Given the description of an element on the screen output the (x, y) to click on. 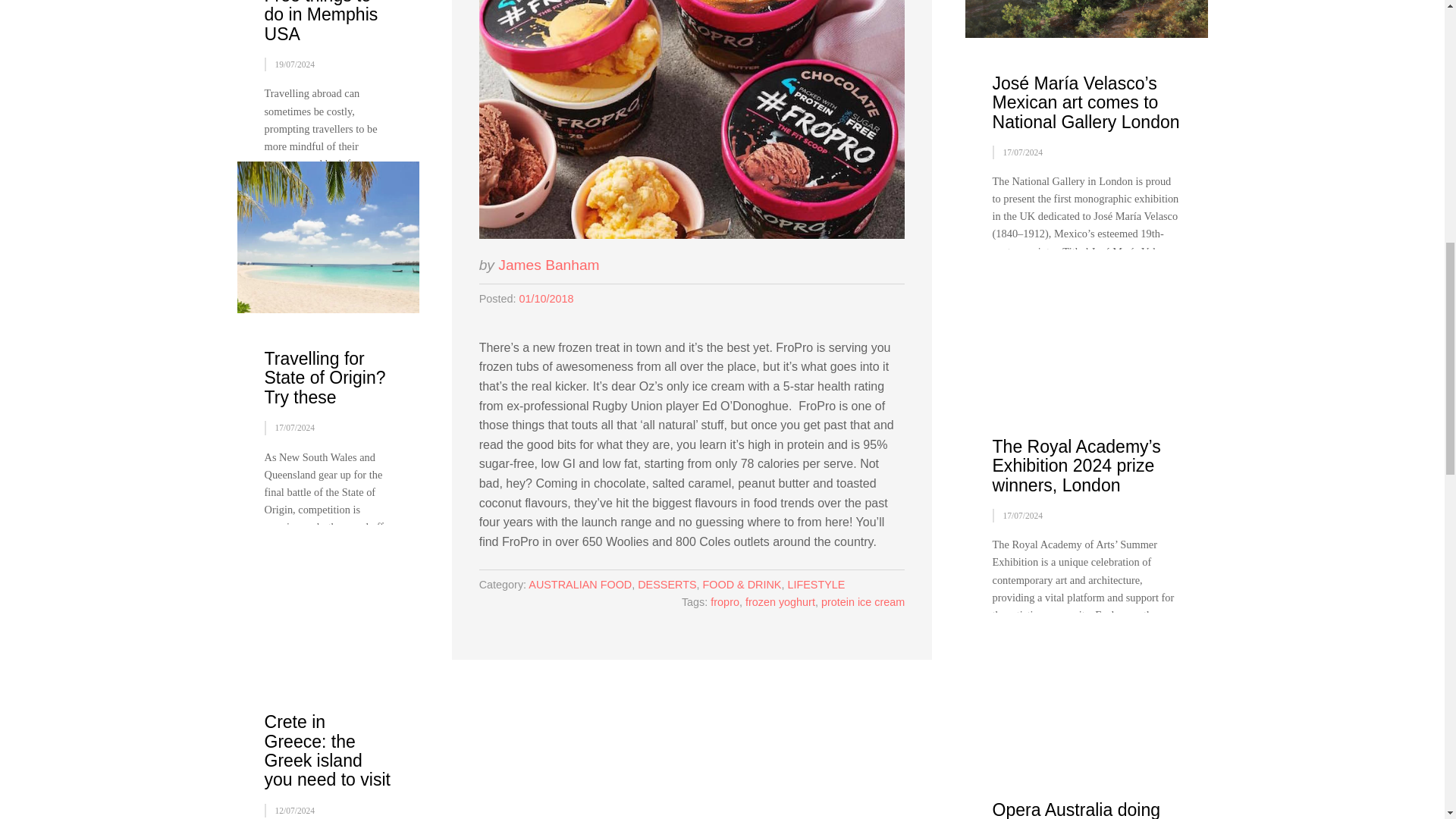
Crete in Greece: the Greek island you need to visit (326, 750)
DESSERTS (666, 584)
Travelling for State of Origin? Try these (324, 377)
AUSTRALIAN FOOD (579, 584)
frozen yoghurt (780, 602)
Posts by James Banham (547, 264)
protein ice cream (862, 602)
fropro (724, 602)
James Banham (547, 264)
Free things to do in Memphis USA (320, 22)
LIFESTYLE (815, 584)
